Given the description of an element on the screen output the (x, y) to click on. 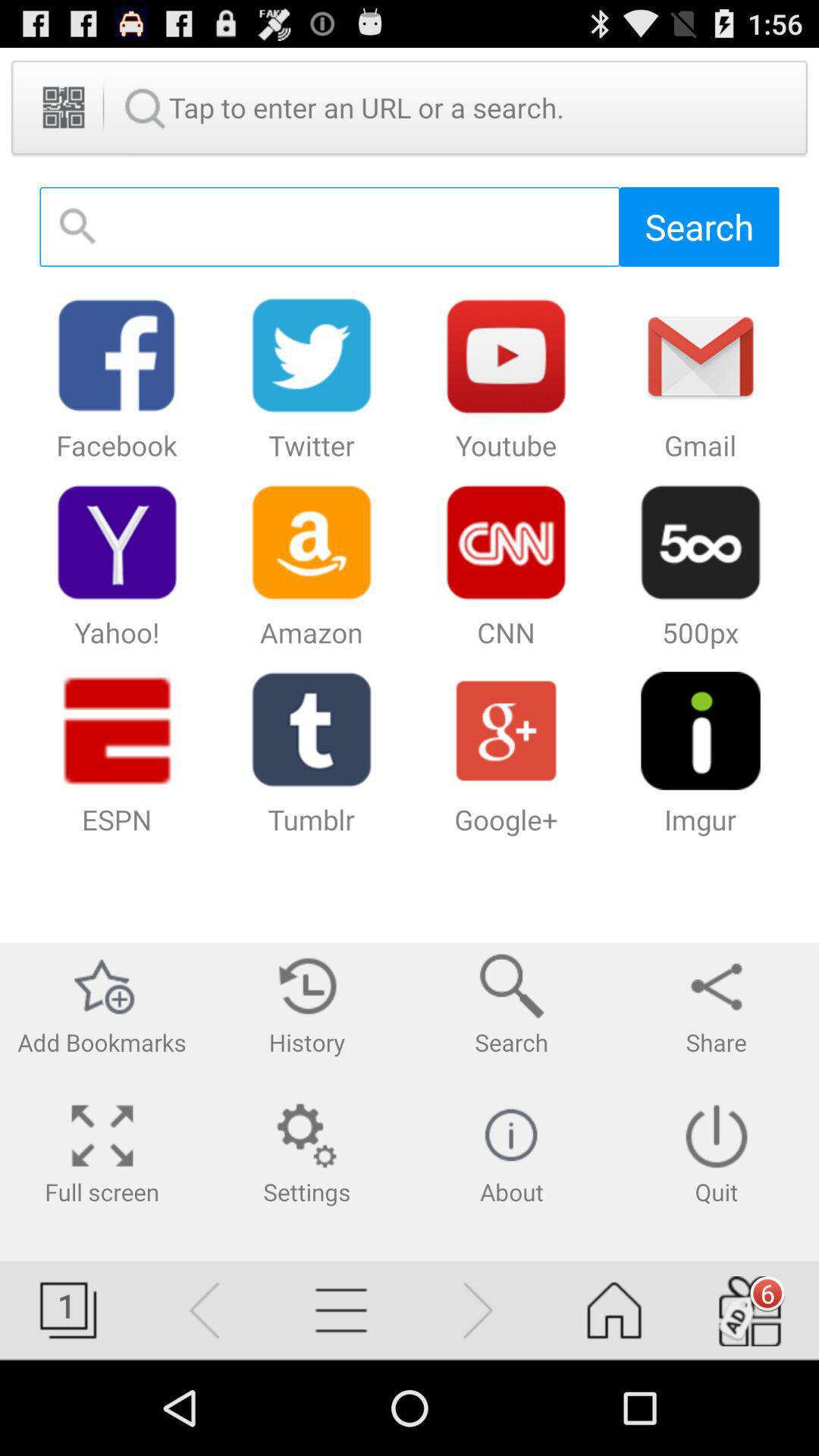
enter search term (329, 226)
